Given the description of an element on the screen output the (x, y) to click on. 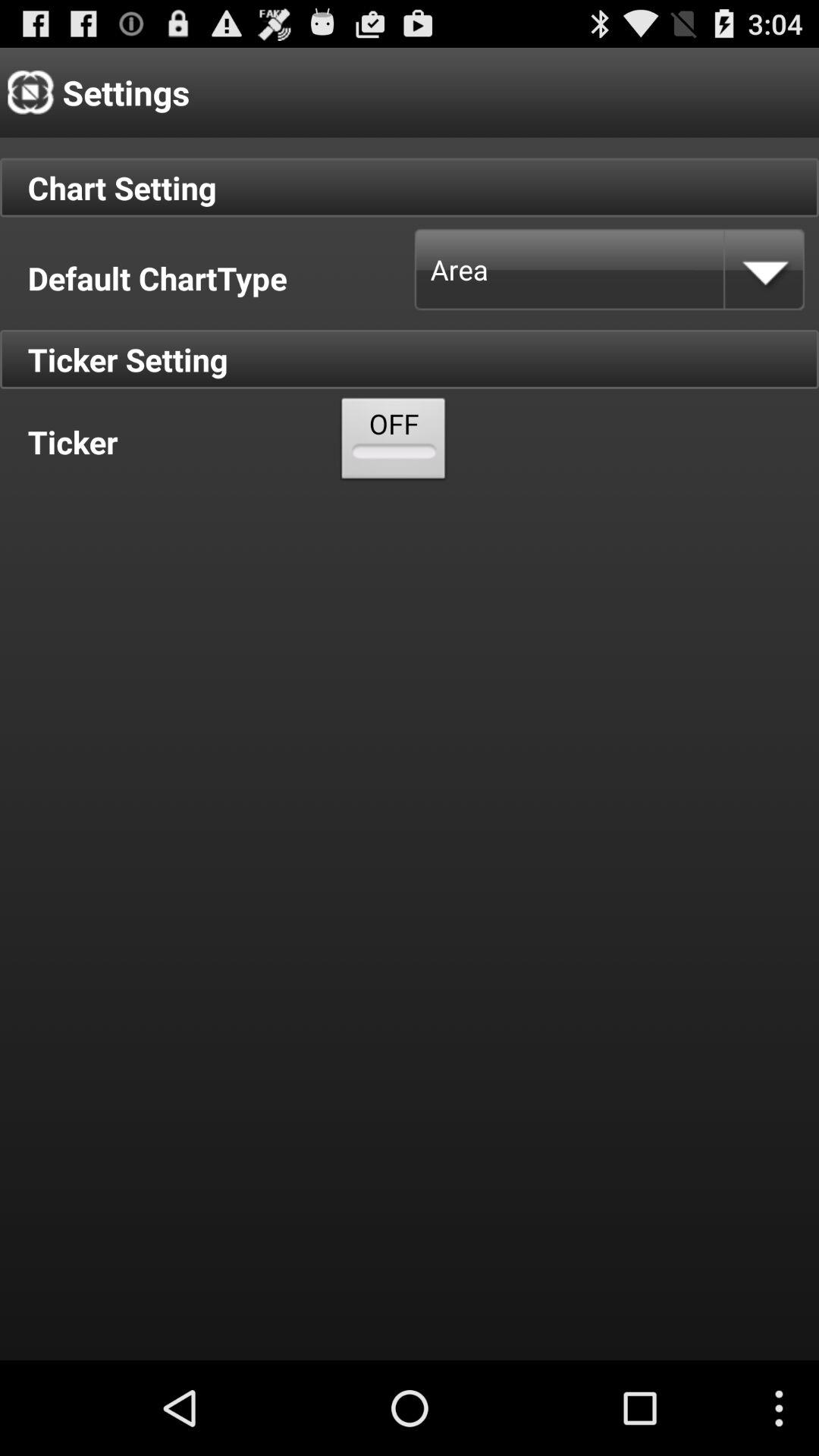
choose the item next to ticker icon (393, 441)
